Given the description of an element on the screen output the (x, y) to click on. 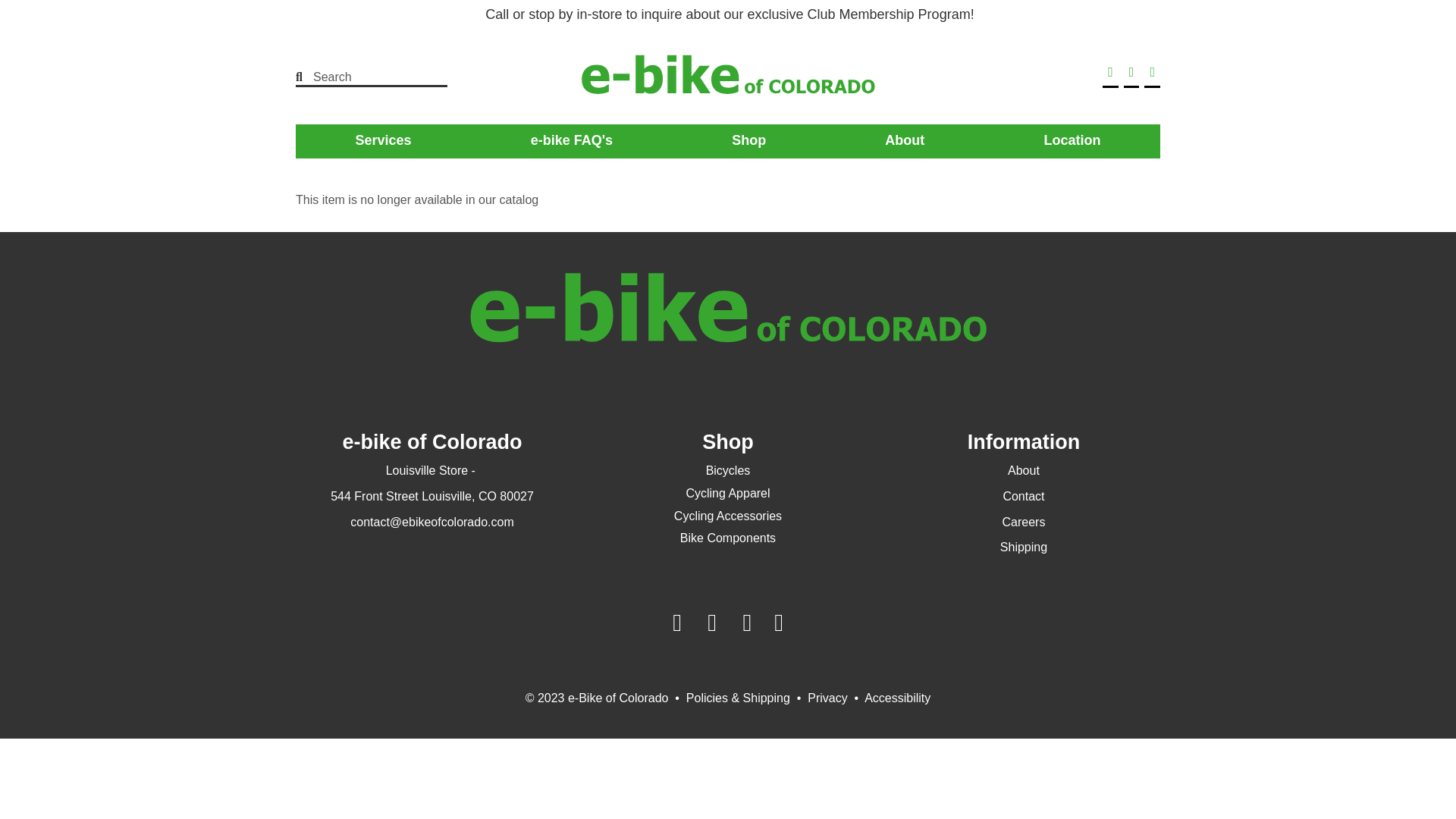
Search (361, 76)
e-bike of Colorado Home Page (727, 77)
e-bike FAQ's (571, 140)
Shop (748, 140)
Services (383, 140)
